Given the description of an element on the screen output the (x, y) to click on. 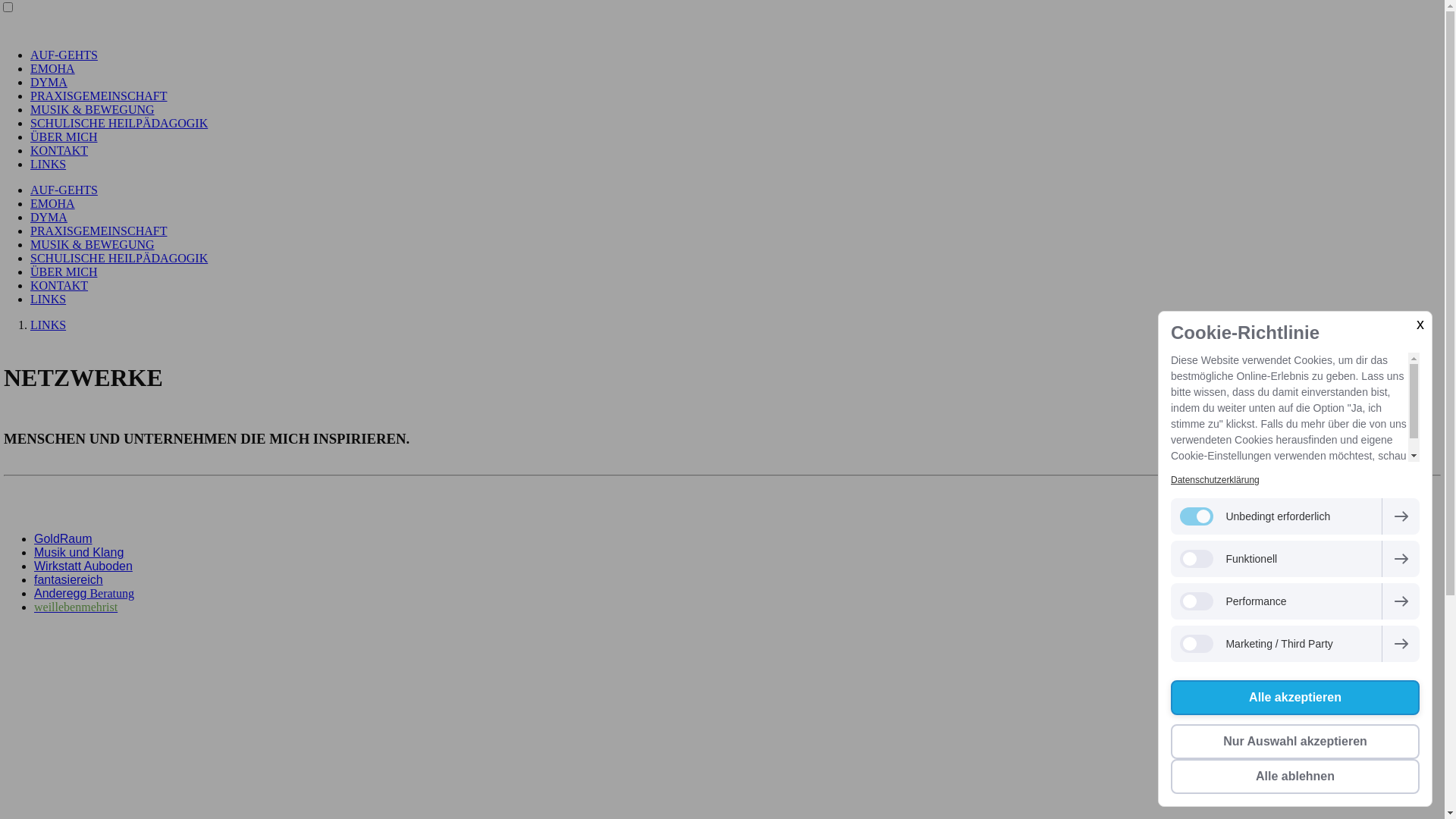
PRAXISGEMEINSCHAFT Element type: text (98, 230)
EMOHA Element type: text (52, 68)
KONTAKT Element type: text (58, 285)
Alle ablehnen Element type: text (1294, 776)
Anderegg Beratung Element type: text (84, 592)
MUSIK & BEWEGUNG Element type: text (92, 109)
LINKS Element type: text (47, 298)
GoldRaum Element type: text (62, 538)
Wirkstatt Auboden Element type: text (83, 565)
Alle akzeptieren Element type: text (1294, 697)
DYMA Element type: text (48, 216)
MUSIK & BEWEGUNG Element type: text (92, 244)
AUF-GEHTS Element type: text (63, 189)
AUF-GEHTS Element type: text (63, 54)
LINKS Element type: text (47, 324)
Nur Auswahl akzeptieren Element type: text (1294, 741)
LINKS Element type: text (47, 163)
KONTAKT Element type: text (58, 150)
weillebenmehrist Element type: text (75, 606)
PRAXISGEMEINSCHAFT Element type: text (98, 95)
Musik und Klang Element type: text (78, 552)
DYMA Element type: text (48, 81)
EMOHA Element type: text (52, 203)
fantasiereich Element type: text (68, 579)
